Given the description of an element on the screen output the (x, y) to click on. 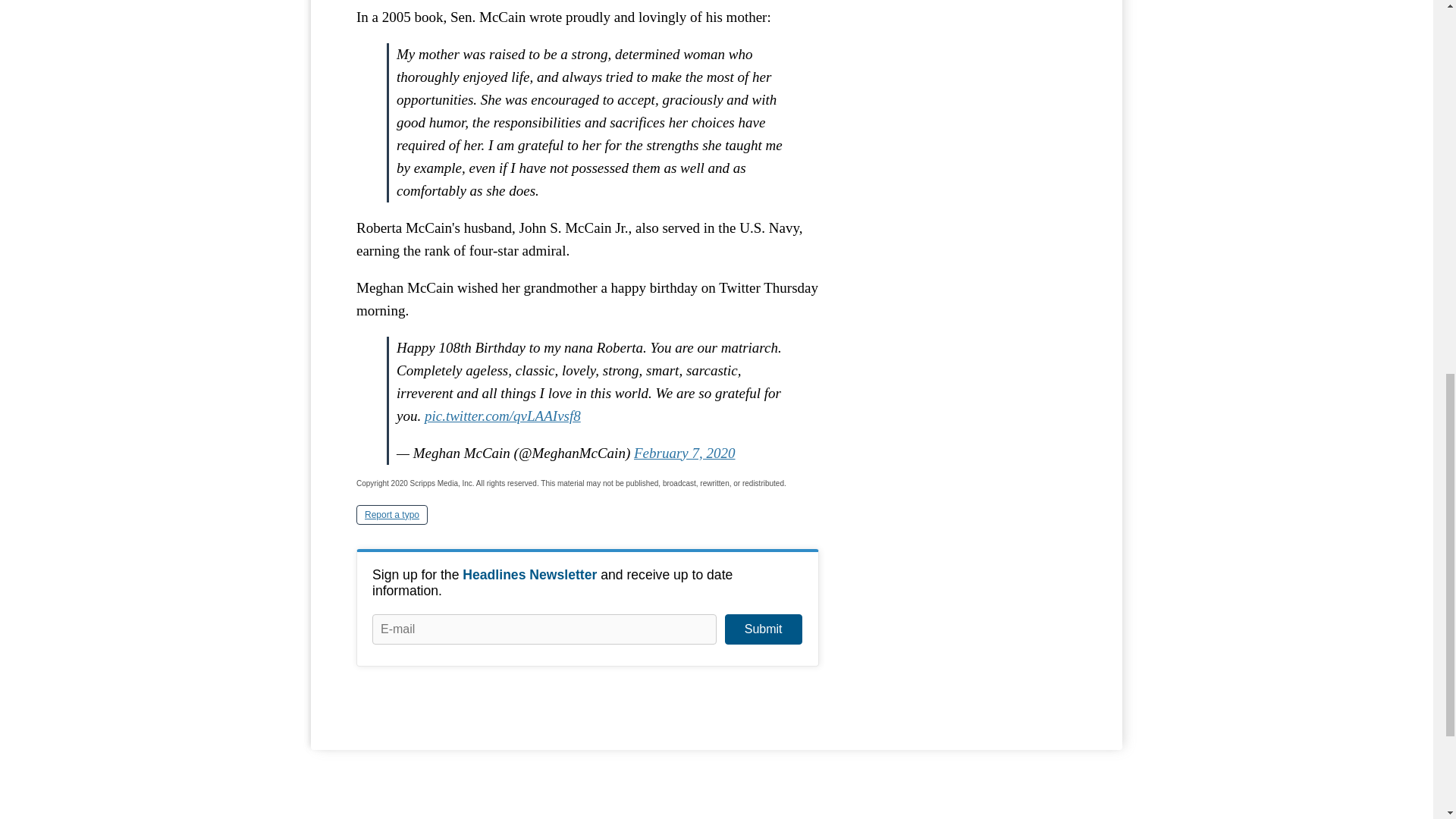
Submit (763, 629)
